Given the description of an element on the screen output the (x, y) to click on. 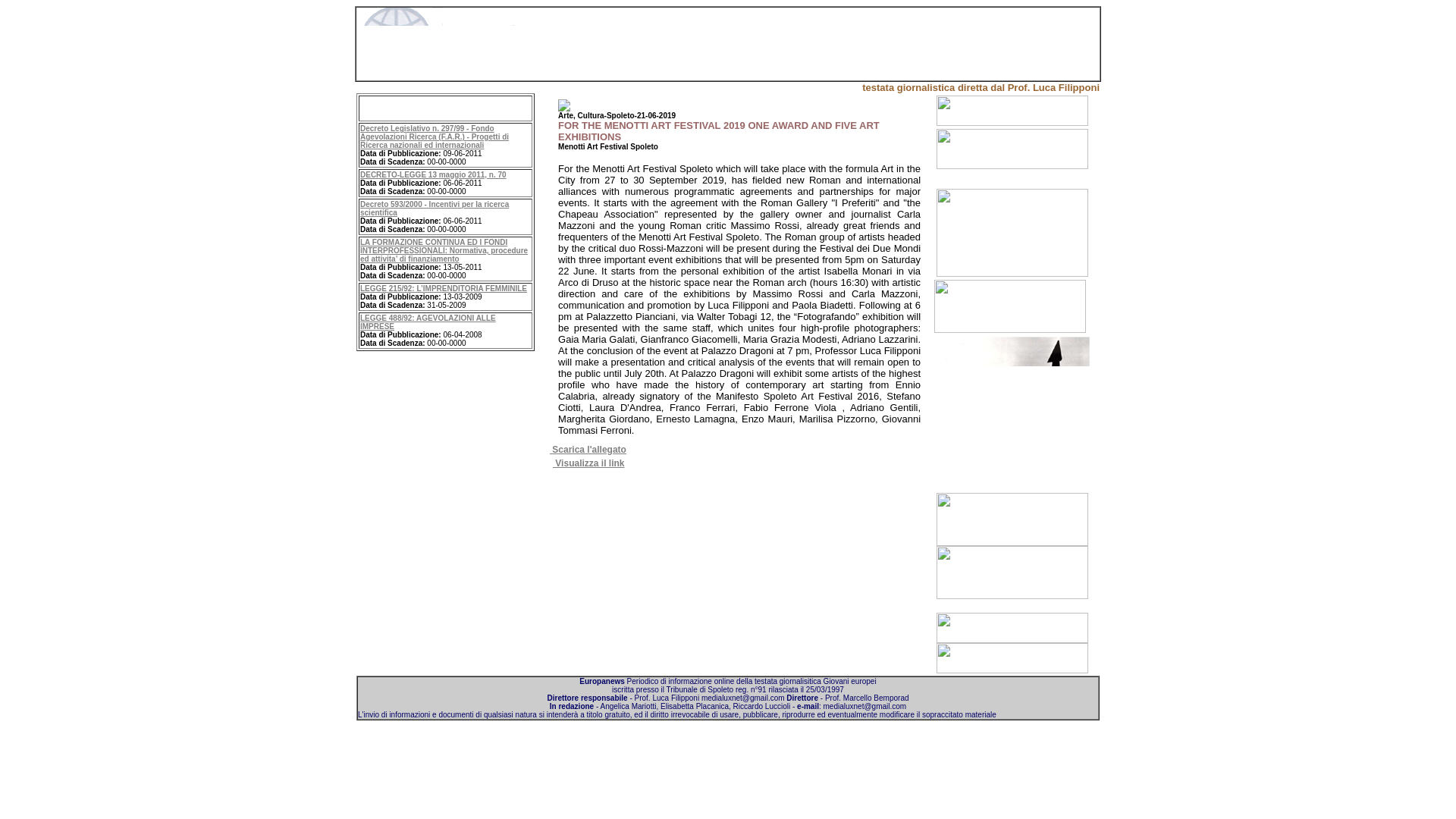
Scarica l'allegato (588, 449)
DECRETO-LEGGE 13 maggio 2011, n. 70 (432, 174)
Visualizza il link (588, 462)
